Given the description of an element on the screen output the (x, y) to click on. 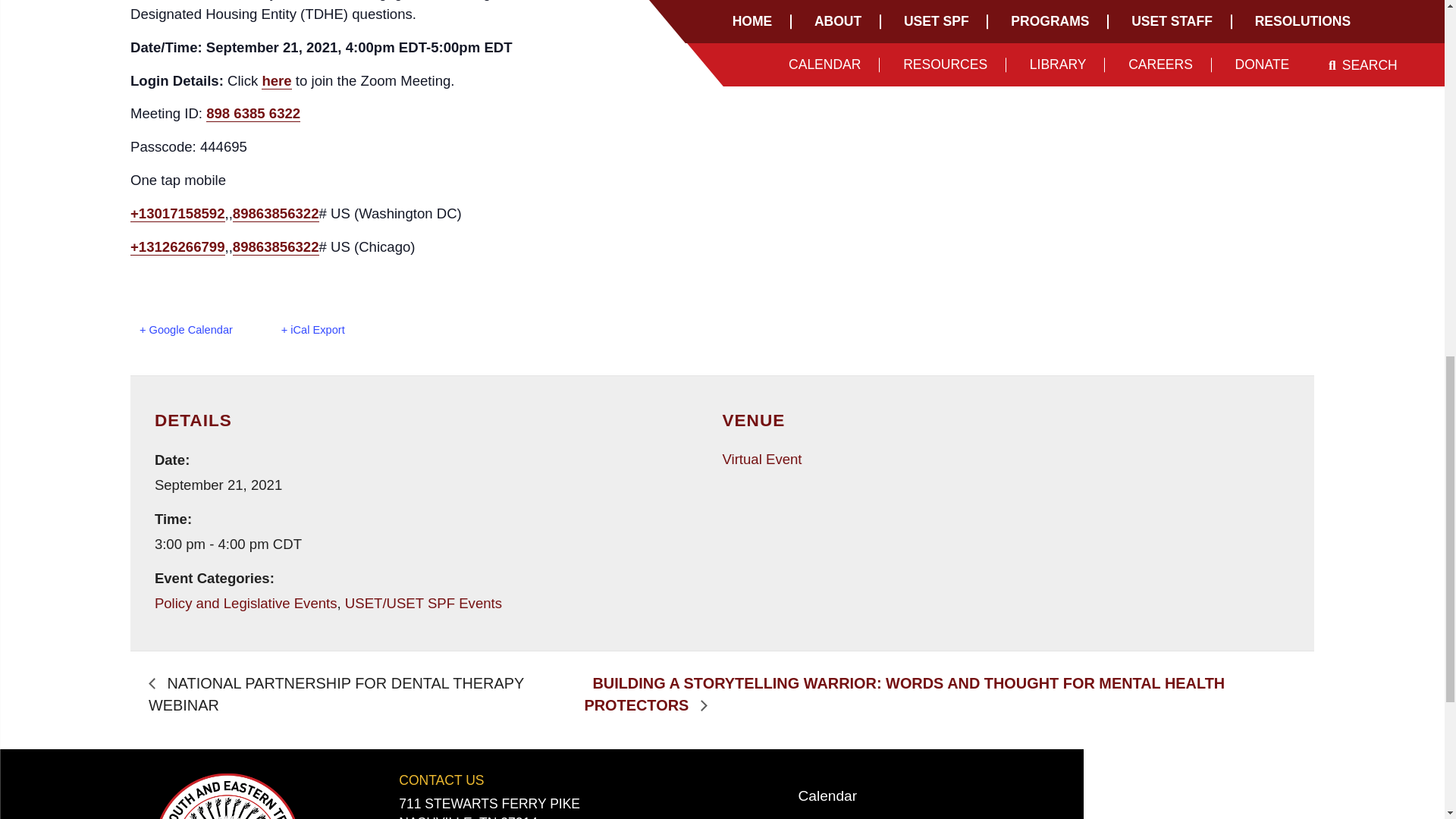
2021-09-21 (218, 484)
2021-09-21 (438, 544)
Download .ics file (312, 330)
Add to Google Calendar (186, 330)
